Given the description of an element on the screen output the (x, y) to click on. 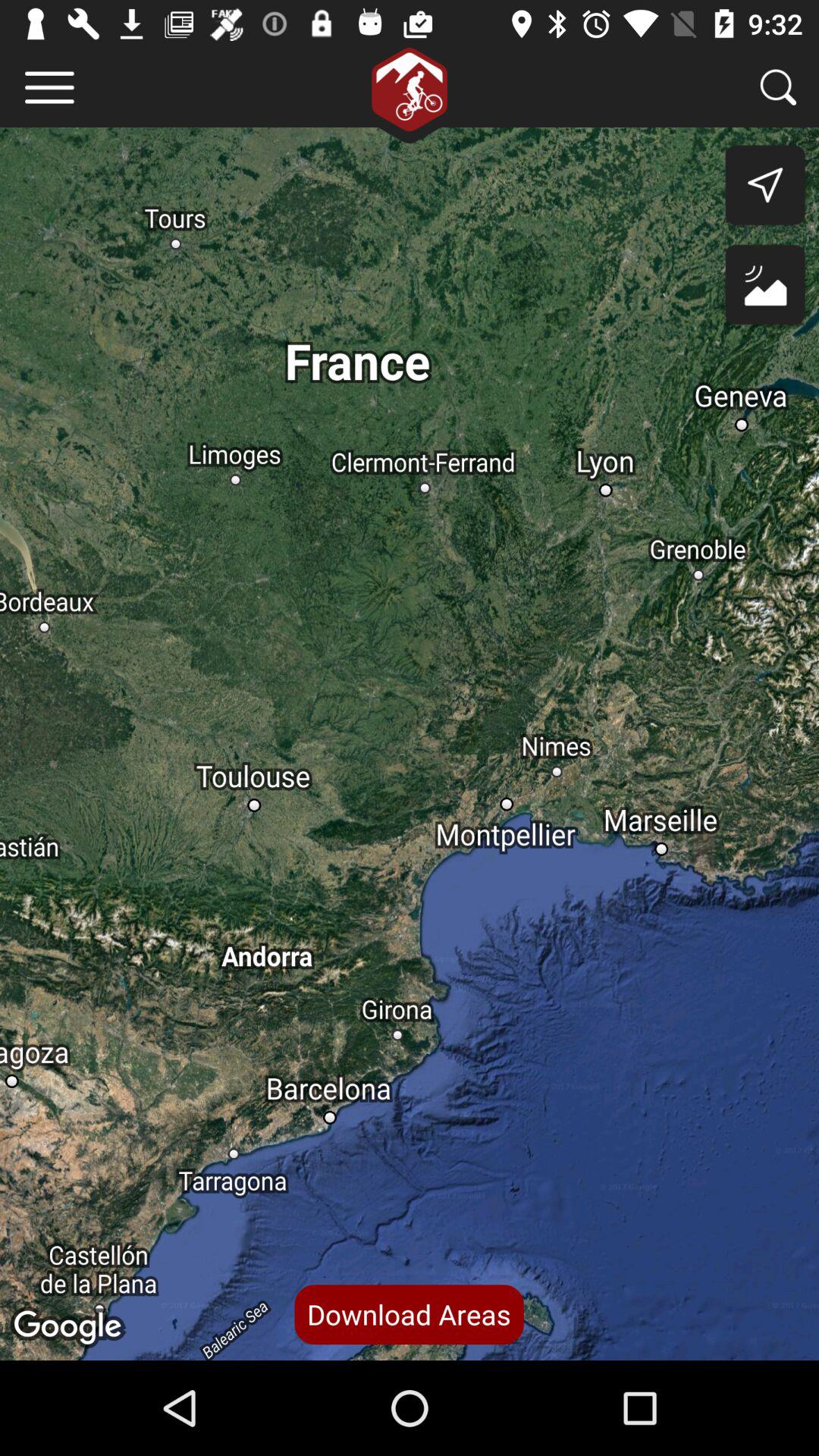
search (778, 87)
